Given the description of an element on the screen output the (x, y) to click on. 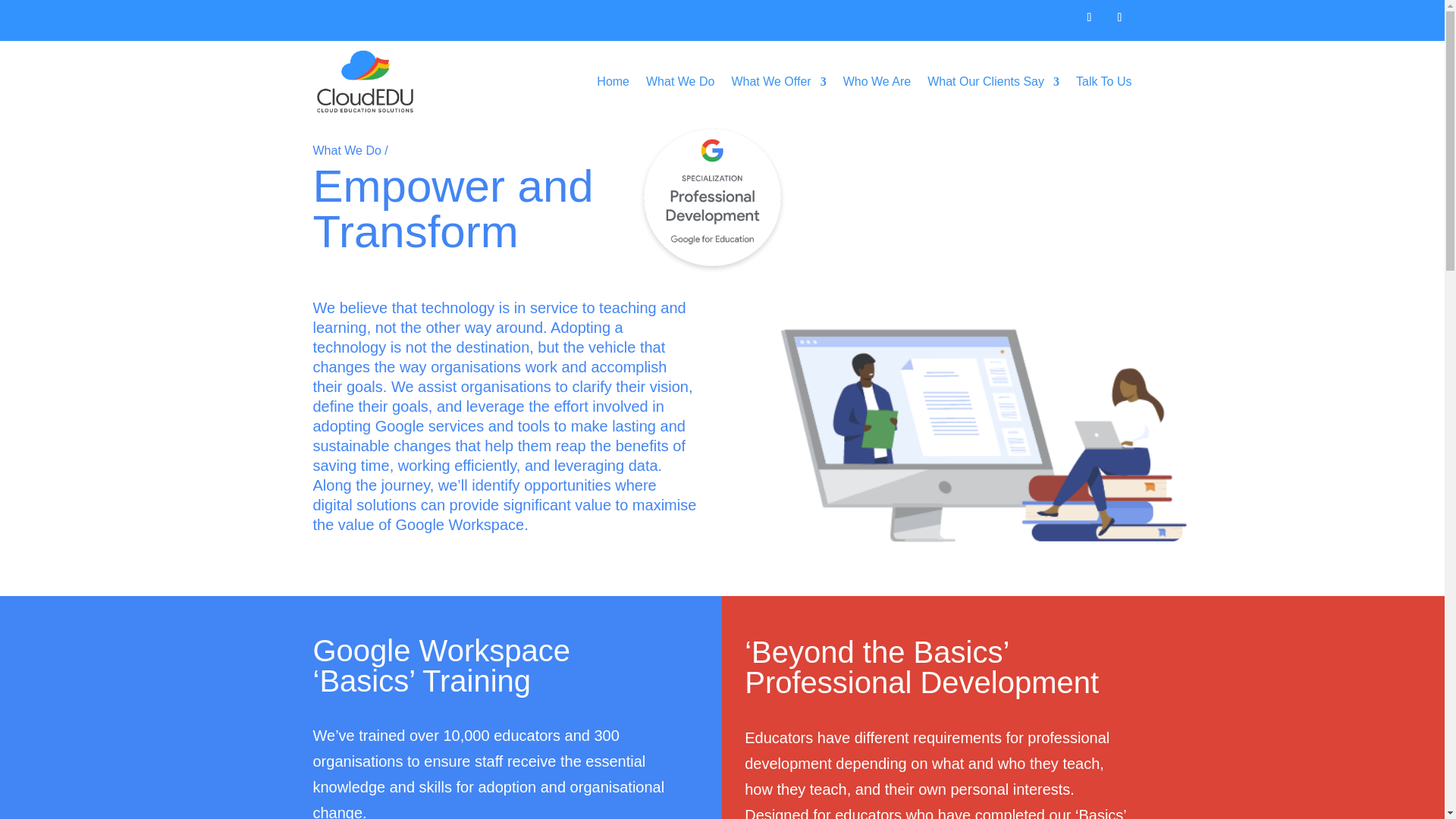
Follow on Twitter (1088, 16)
Specialisation Professional Development Google for Education (712, 199)
What We Offer (777, 81)
What We Do (680, 81)
Talk To Us (1103, 81)
What Our Clients Say (993, 81)
CloudEdu - Empower and Transform (921, 391)
Who We Are (877, 81)
Home (612, 81)
Follow on LinkedIn (1118, 16)
